Given the description of an element on the screen output the (x, y) to click on. 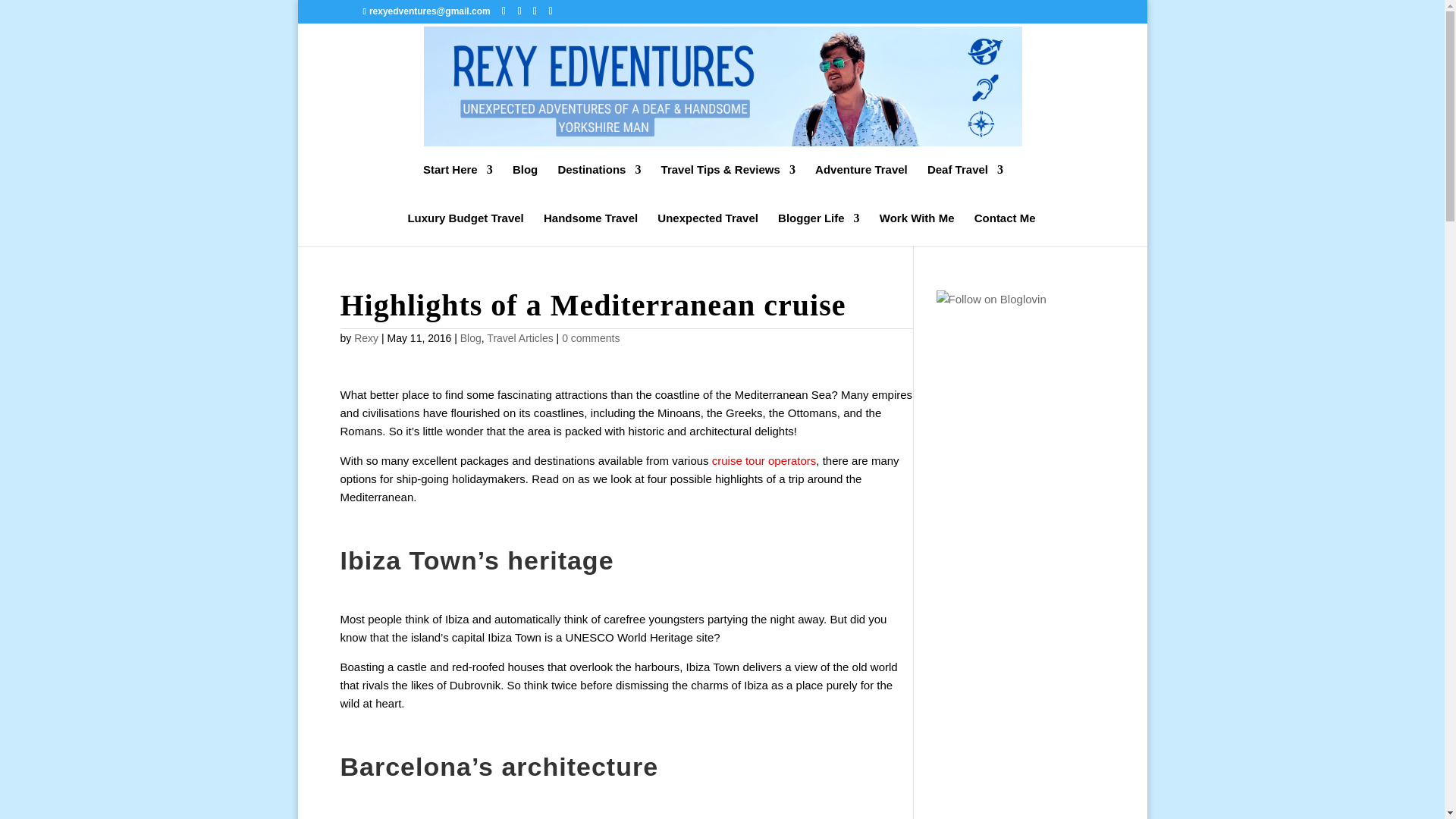
Follow REXYEDVENTURES on Bloglovin (990, 298)
Posts by Rexy (365, 337)
Destinations (598, 181)
Start Here (458, 181)
